Given the description of an element on the screen output the (x, y) to click on. 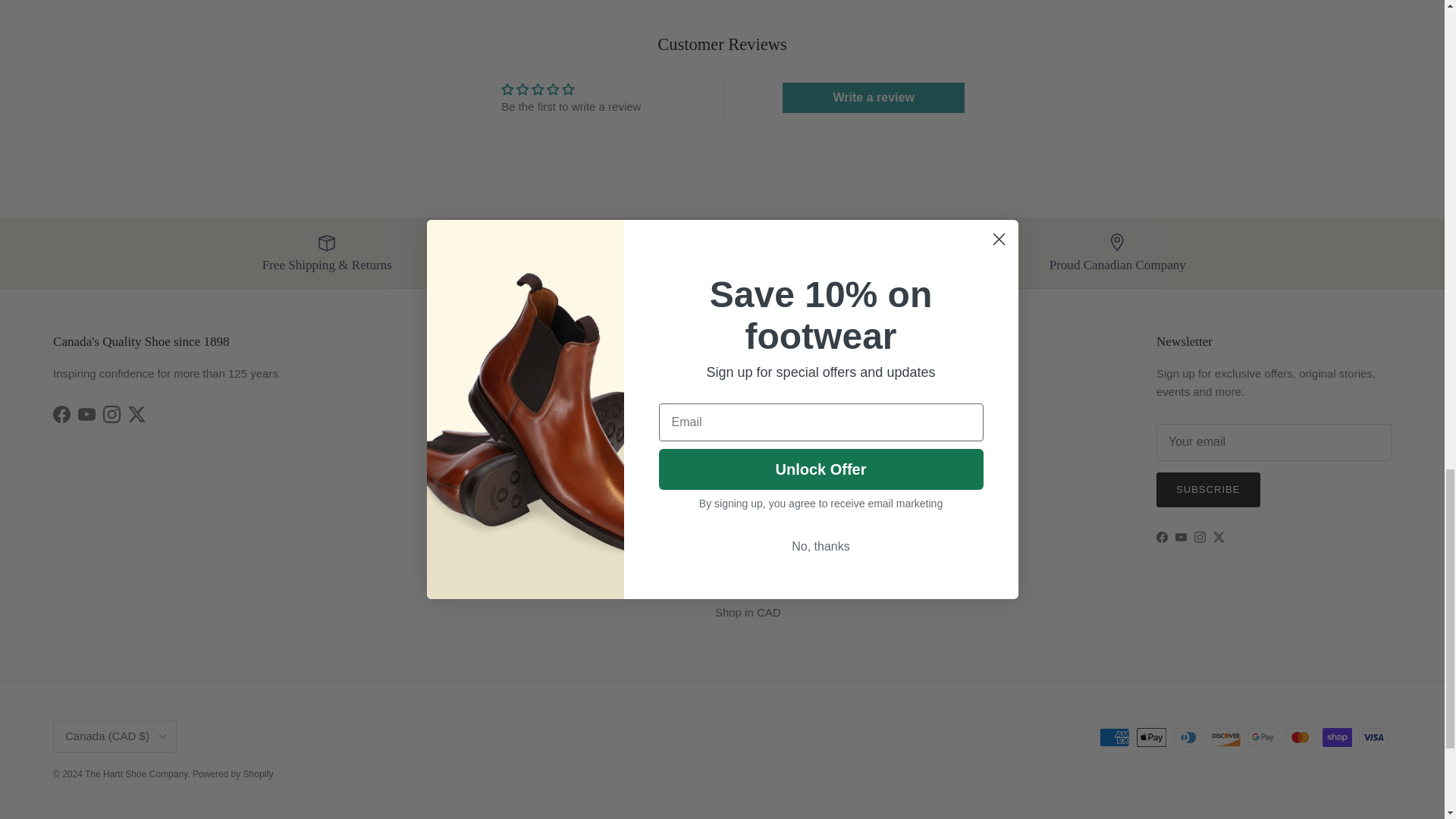
The Hartt Shoe Company on Facebook (60, 414)
The Hartt Shoe Company on YouTube (87, 414)
The Hartt Shoe Company on Instagram (111, 414)
The Hartt Shoe Company on Twitter (136, 414)
